Given the description of an element on the screen output the (x, y) to click on. 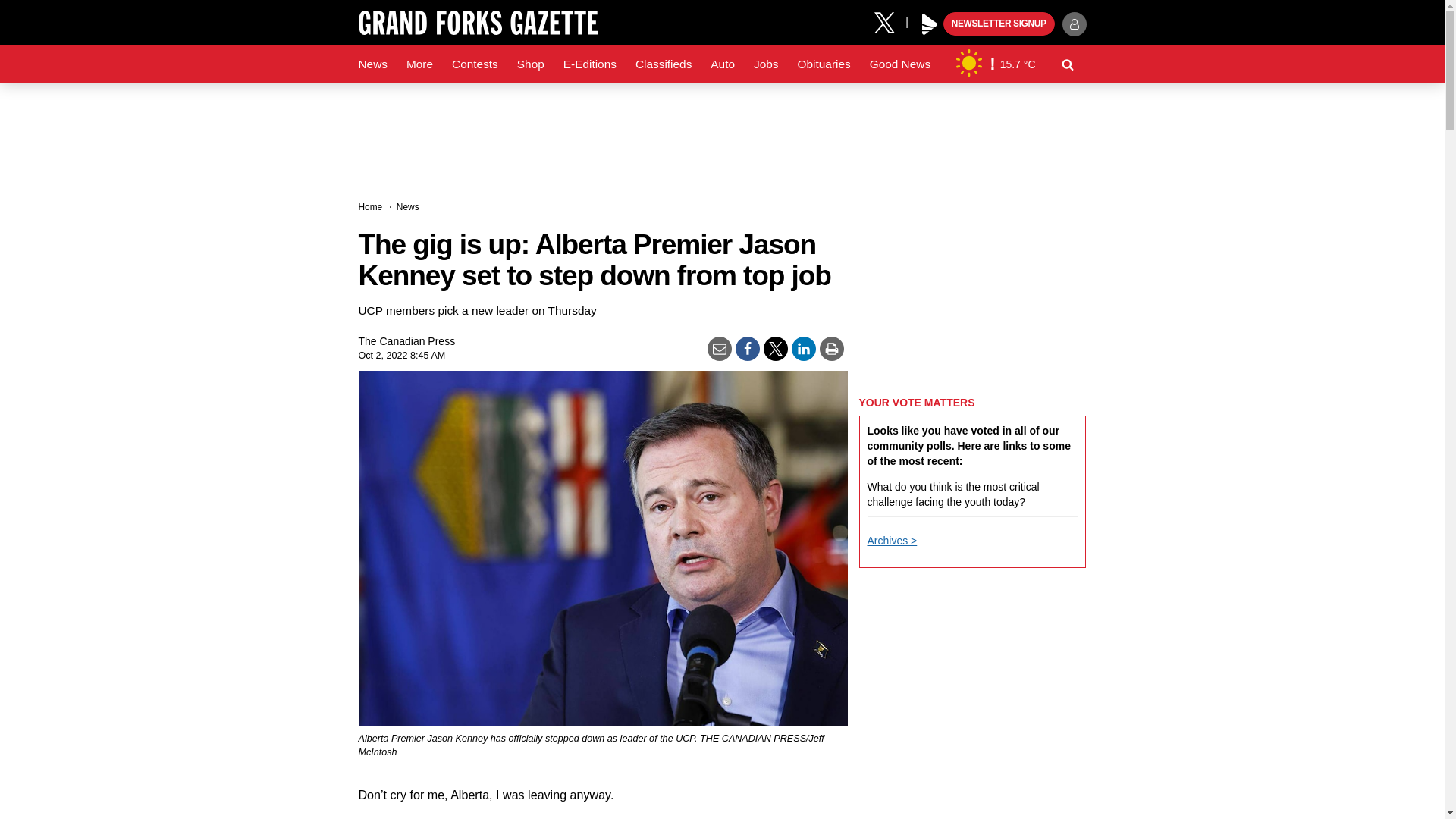
News (372, 64)
NEWSLETTER SIGNUP (998, 24)
X (889, 21)
Black Press Media (929, 24)
3rd party ad content (721, 131)
Play (929, 24)
3rd party ad content (972, 803)
3rd party ad content (972, 287)
3rd party ad content (972, 678)
